Given the description of an element on the screen output the (x, y) to click on. 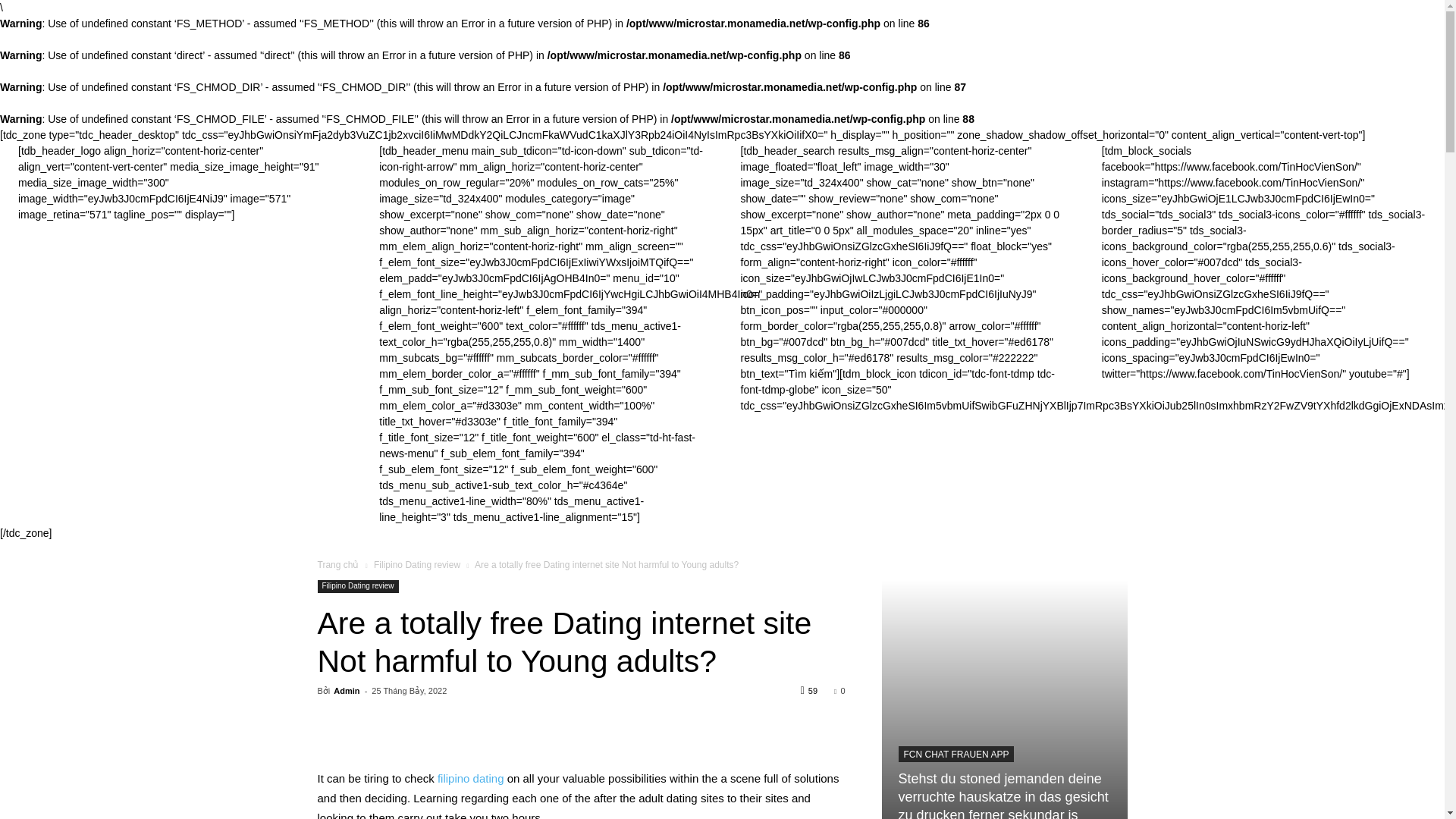
filipino dating (470, 778)
FCN CHAT FRAUEN APP (955, 754)
0 (839, 690)
Admin (346, 690)
Filipino Dating review (357, 585)
Filipino Dating review (417, 564)
